Given the description of an element on the screen output the (x, y) to click on. 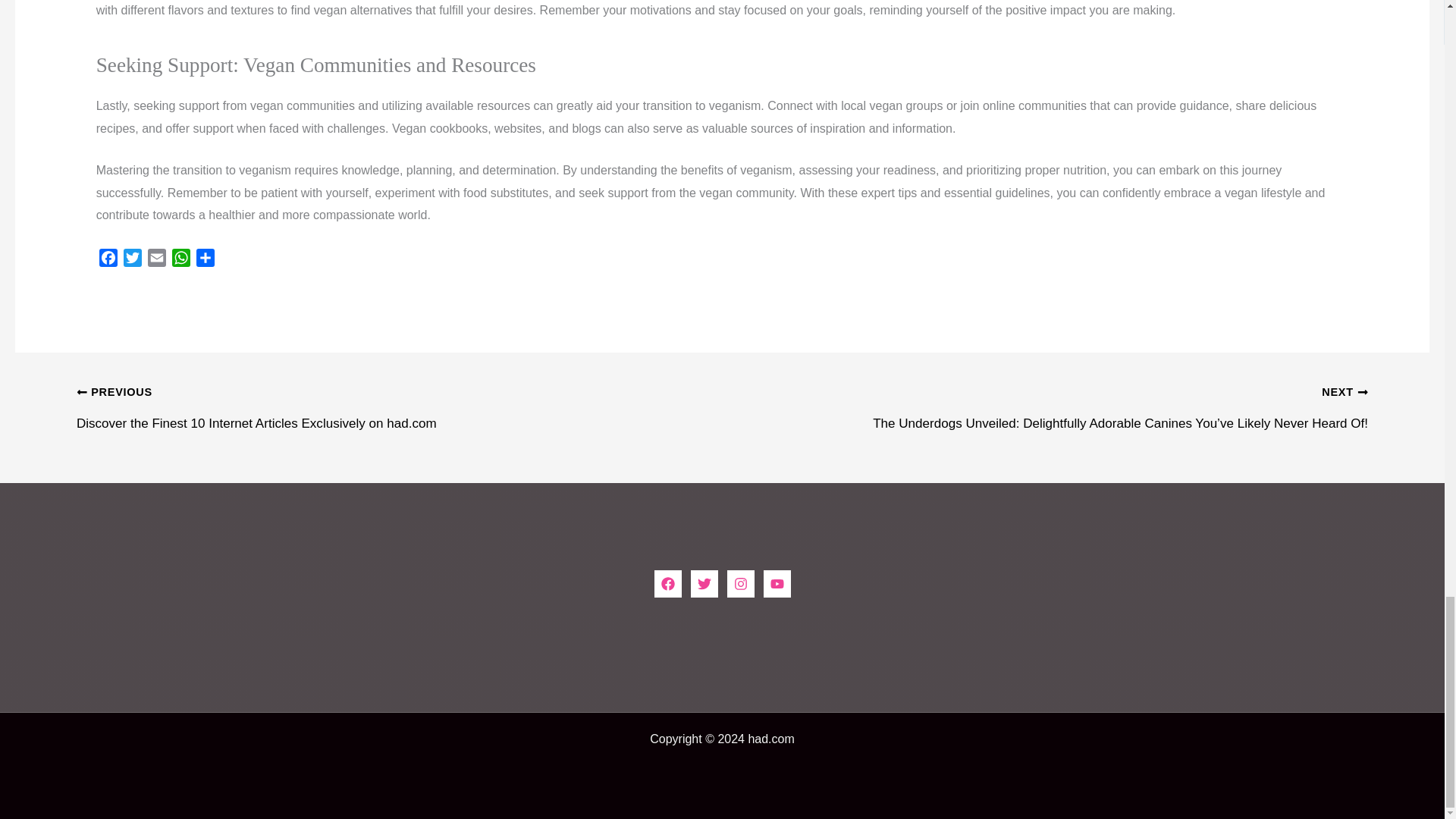
Twitter (132, 257)
WhatsApp (180, 257)
Email (156, 257)
Facebook (108, 257)
